Given the description of an element on the screen output the (x, y) to click on. 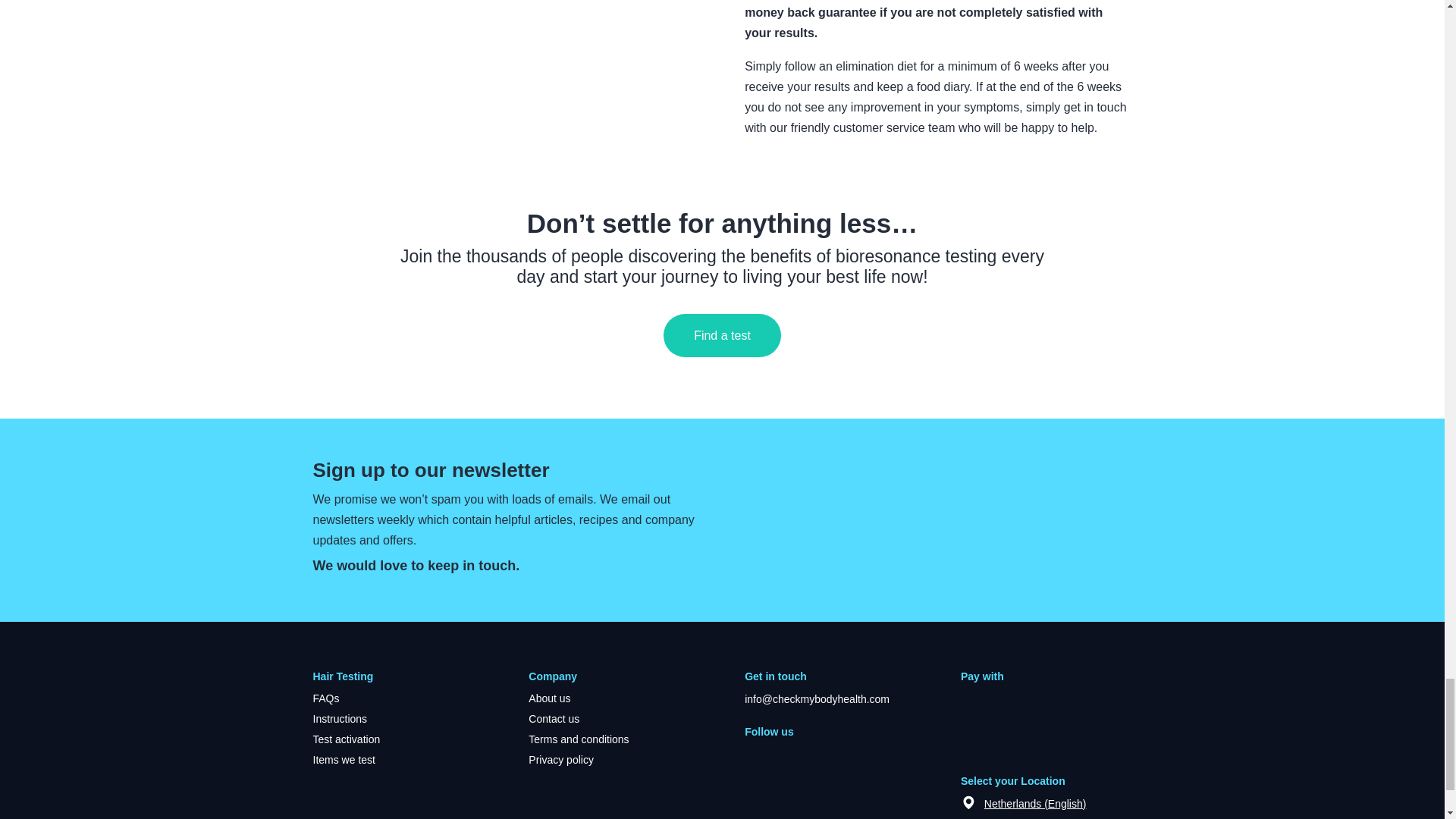
Youtube icon (772, 756)
Twitter icon (804, 756)
Instagram icon (835, 756)
